Given the description of an element on the screen output the (x, y) to click on. 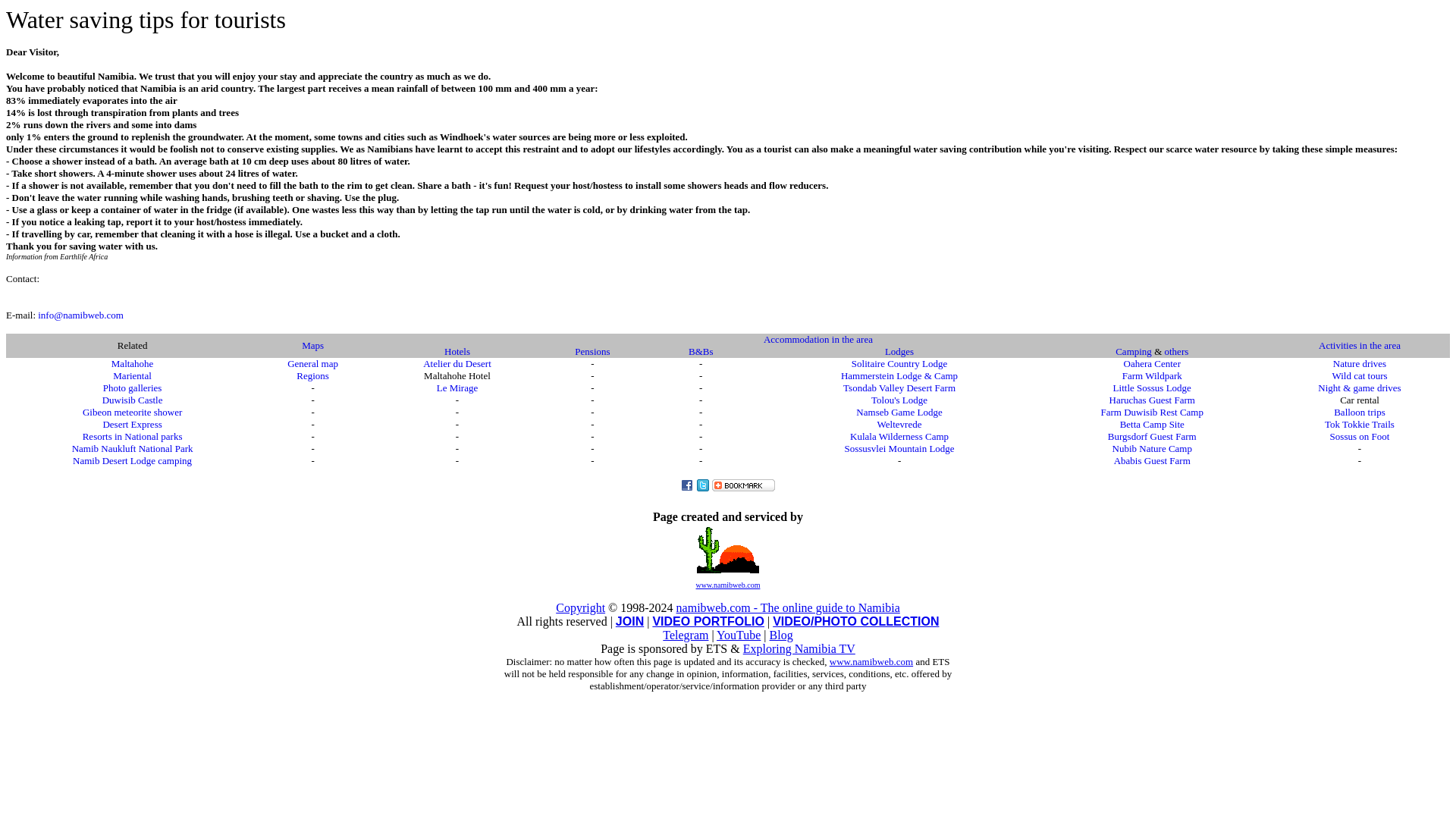
Balloon trips (1359, 411)
Wild cat tours (1359, 375)
Solitaire Country Lodge (899, 363)
Nature drives (1359, 363)
Betta Camp Site (1152, 423)
Activities in the area (1359, 345)
Farm Duwisib Rest Camp (1152, 411)
Weltevrede (899, 423)
Little Sossus Lodge (1152, 387)
Regions (313, 374)
Tolou's Lodge (898, 399)
Maltahohe (133, 363)
Camping (1133, 351)
Haruchas Guest Farm (1152, 399)
Lodges (899, 351)
